Given the description of an element on the screen output the (x, y) to click on. 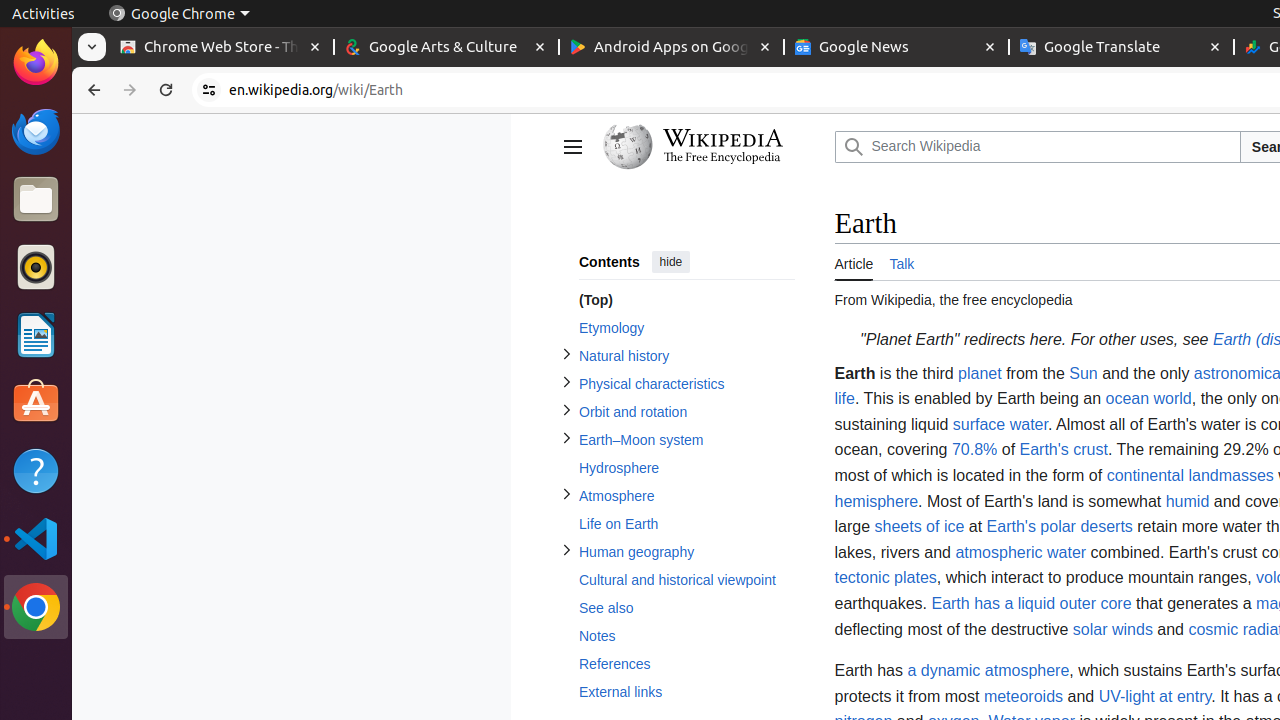
continental Element type: link (1145, 475)
landmasses Element type: link (1231, 475)
Etymology Element type: link (686, 328)
External links Element type: link (686, 692)
References Element type: link (686, 664)
